Given the description of an element on the screen output the (x, y) to click on. 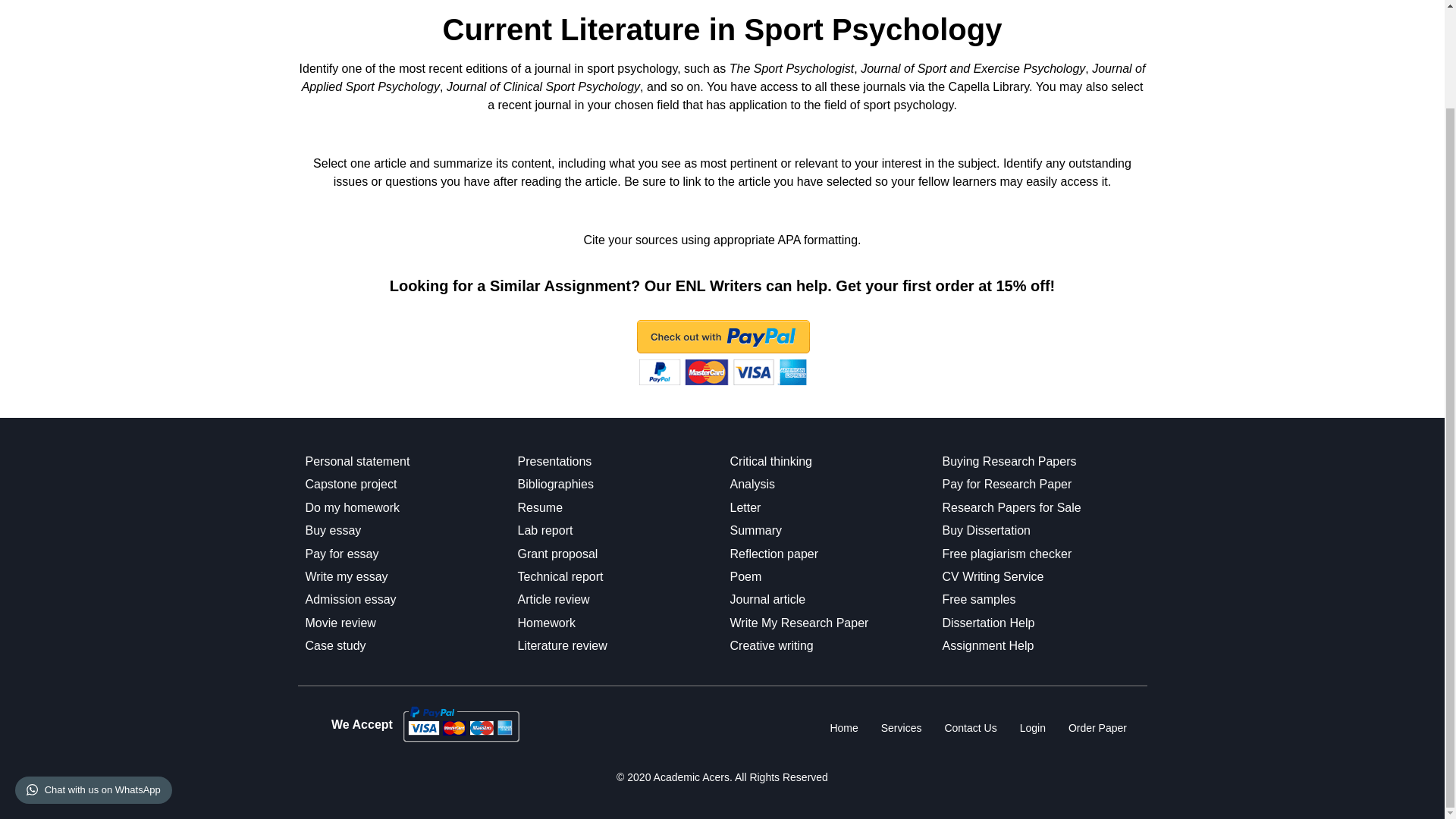
Login (1033, 727)
Services (901, 727)
Contact Us (970, 727)
Home (843, 727)
Order Paper (1097, 727)
